Given the description of an element on the screen output the (x, y) to click on. 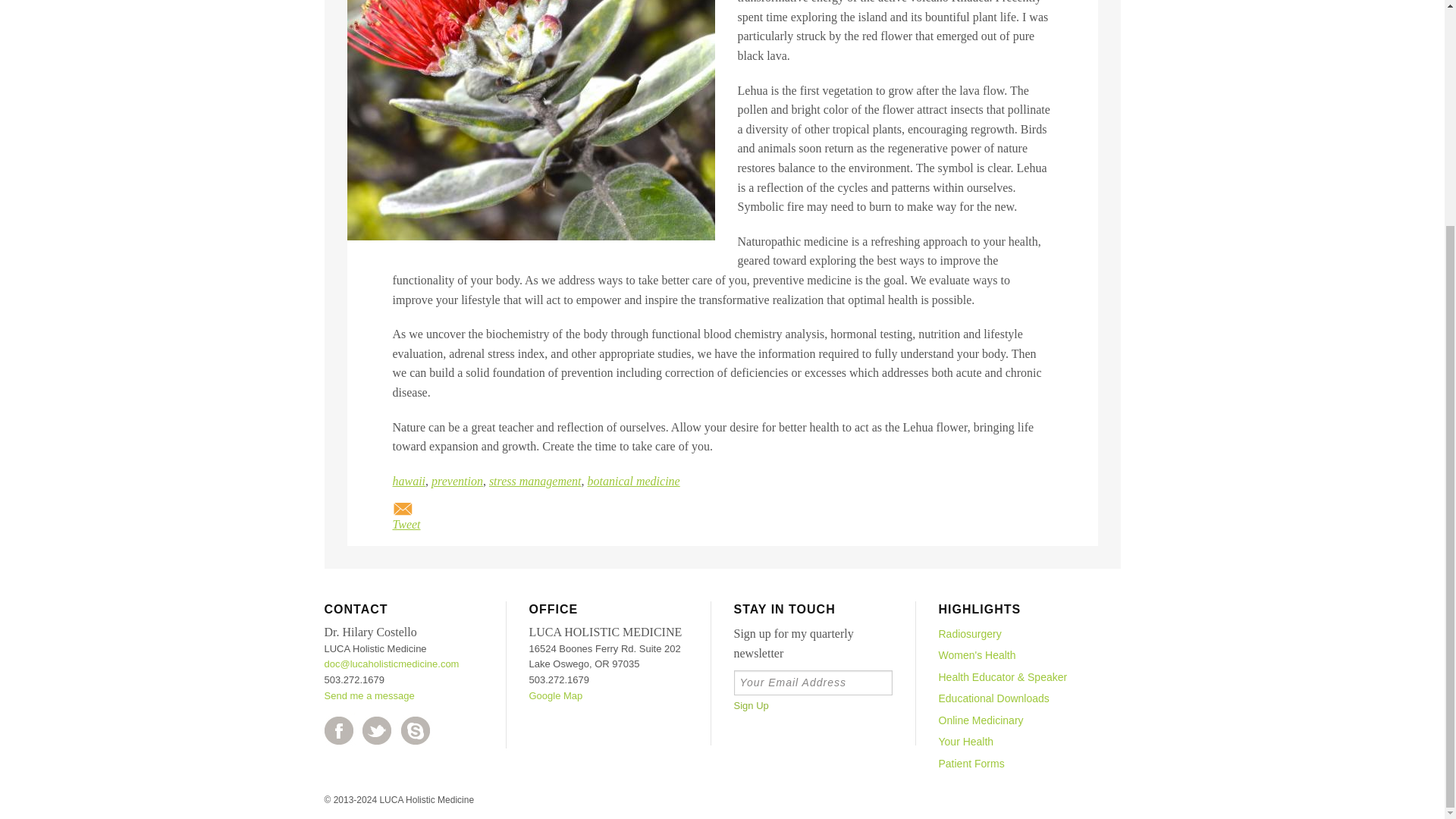
prevention (456, 481)
View all posts tagged 'prevention' (456, 481)
Radiosurgery (1018, 633)
Online Medicinary (1018, 719)
Educational Downloads (1018, 698)
Google Map (556, 695)
Your Health (1018, 741)
View all posts tagged 'hawaii' (409, 481)
Sign Up (750, 705)
Women's Health (1018, 655)
Tweet (406, 523)
View all posts tagged 'stress management' (534, 481)
hawaii (409, 481)
stress management (534, 481)
View all posts tagged 'botanical medicine' (633, 481)
